Given the description of an element on the screen output the (x, y) to click on. 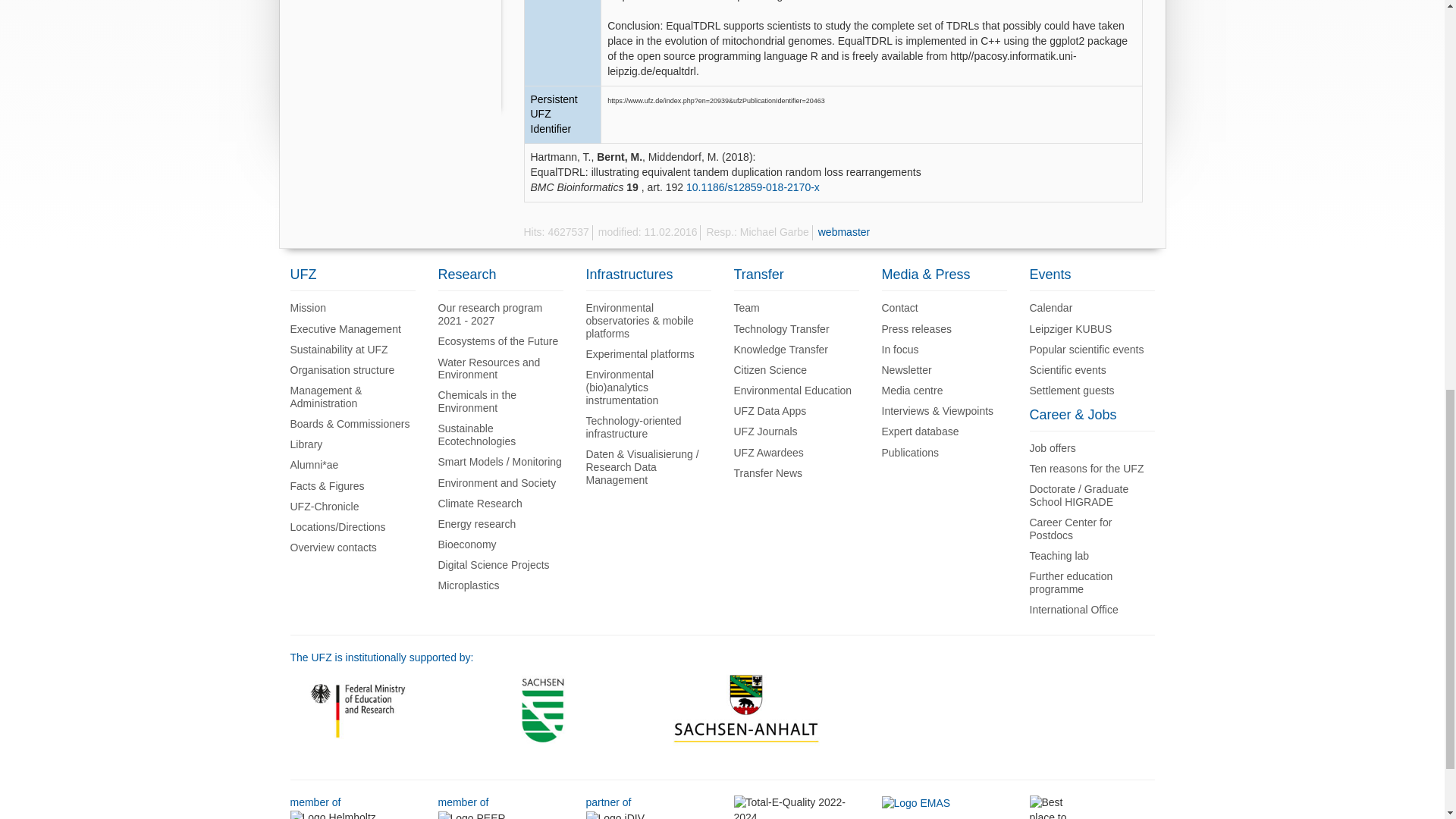
Registered with EMAS (915, 802)
